Given the description of an element on the screen output the (x, y) to click on. 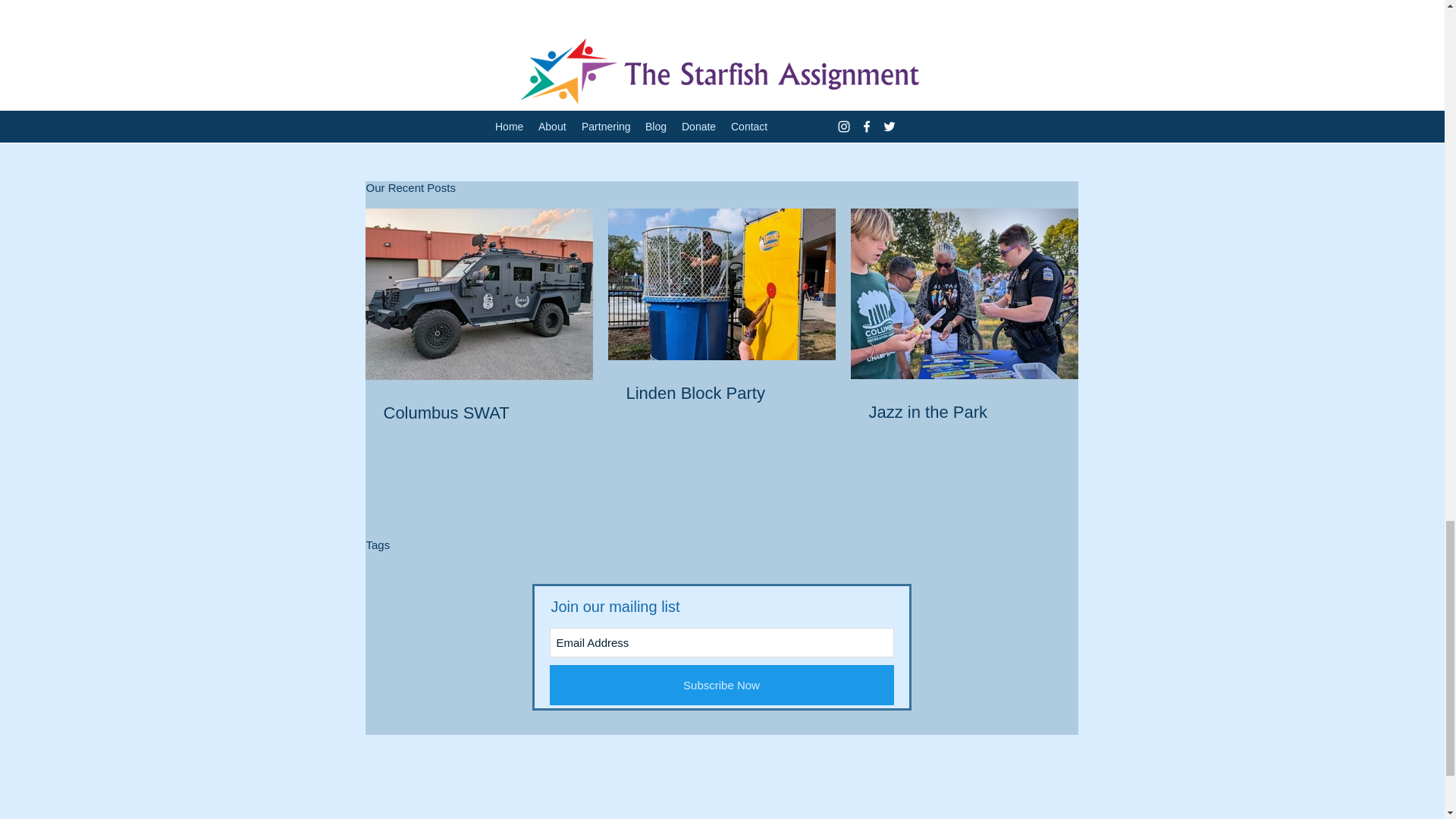
Subscribe Now (720, 685)
Jazz in the Park (964, 413)
Linden Block Party (721, 393)
Columbus SWAT (479, 413)
